Given the description of an element on the screen output the (x, y) to click on. 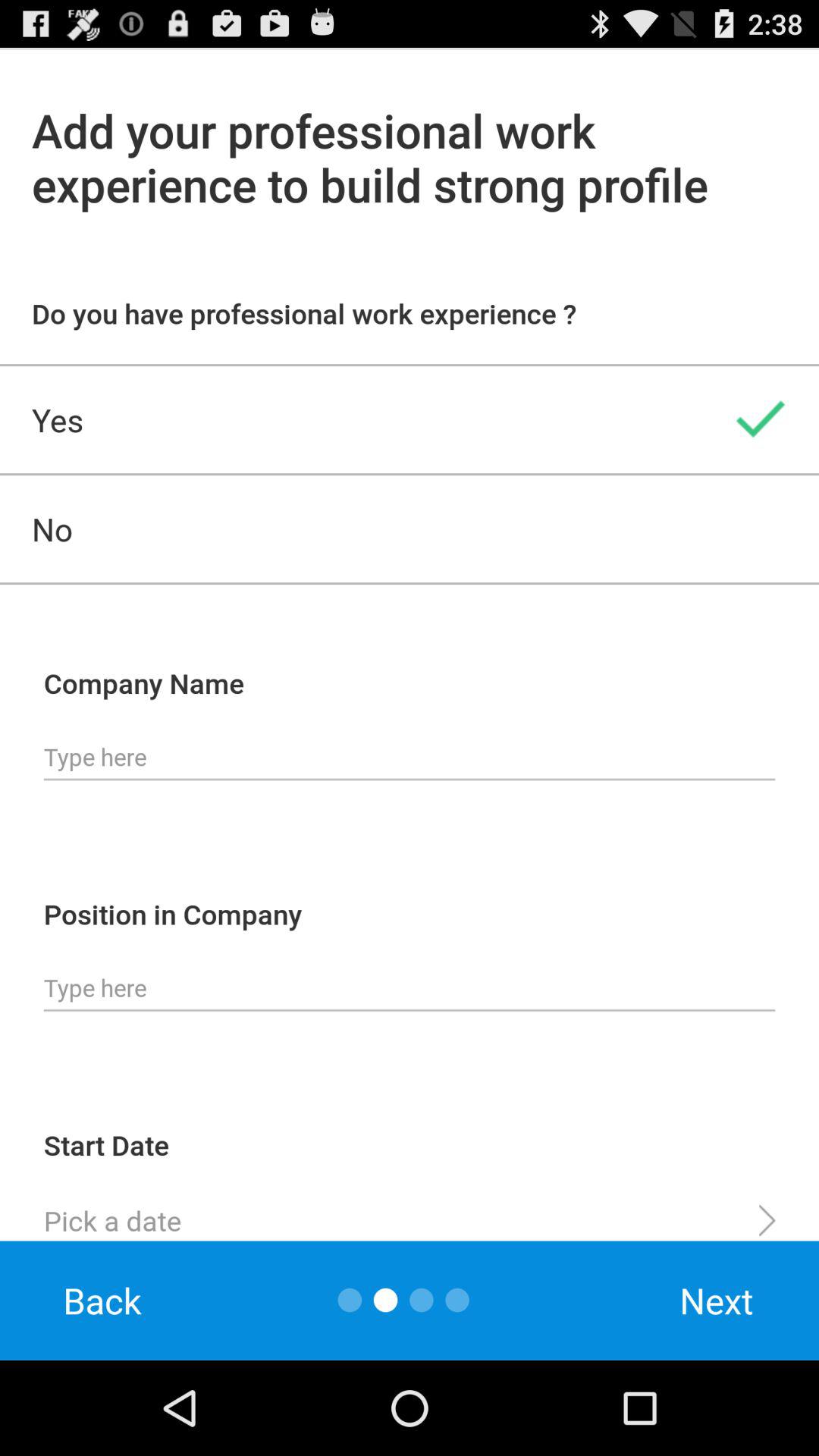
enter start date (409, 1214)
